Given the description of an element on the screen output the (x, y) to click on. 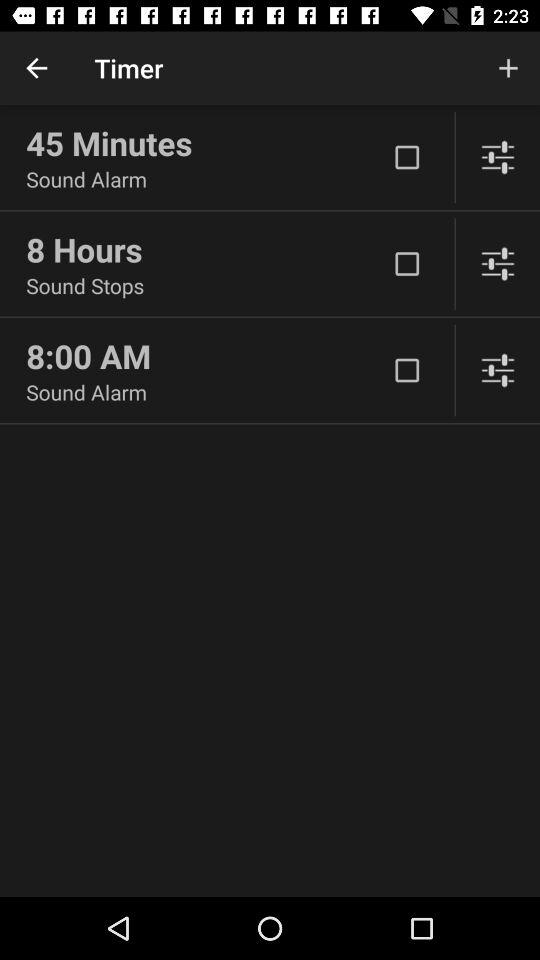
open item above the sound alarm icon (206, 143)
